Given the description of an element on the screen output the (x, y) to click on. 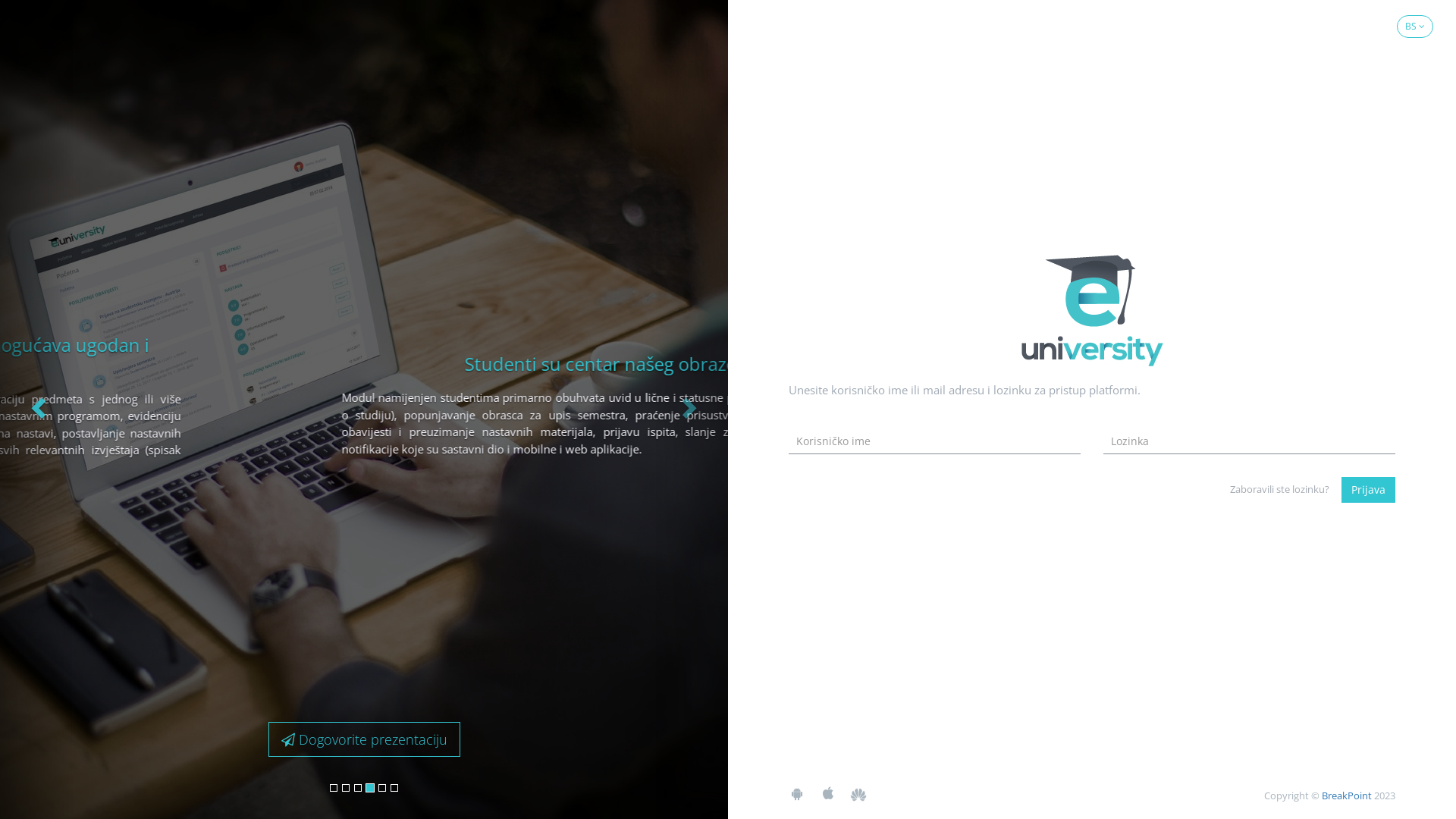
Prijava Element type: text (1368, 489)
Zaboravili ste lozinku? Element type: text (1279, 488)
BS Element type: text (1414, 26)
Dogovorite prezentaciju Element type: text (364, 738)
BreakPoint Element type: text (1346, 795)
